Given the description of an element on the screen output the (x, y) to click on. 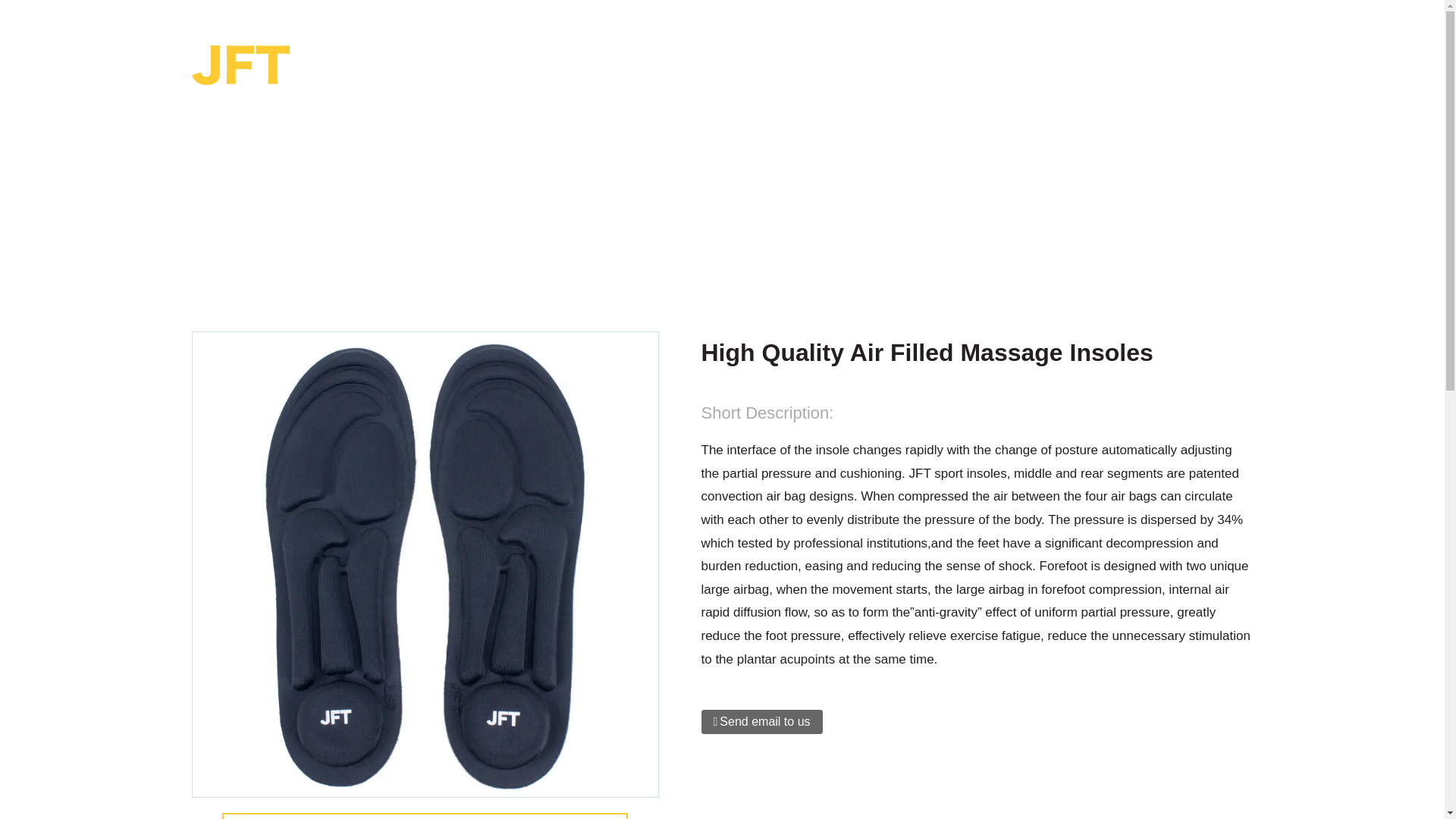
News (891, 62)
Send email to us (761, 721)
Contact Us (985, 62)
Insoles (877, 232)
PRODUCTS (626, 232)
Application Type (675, 62)
INSOLES (877, 232)
OUTDOOR SOPRTS SERIES (755, 232)
About Us (804, 62)
Outdoor Soprts Series (755, 232)
